Given the description of an element on the screen output the (x, y) to click on. 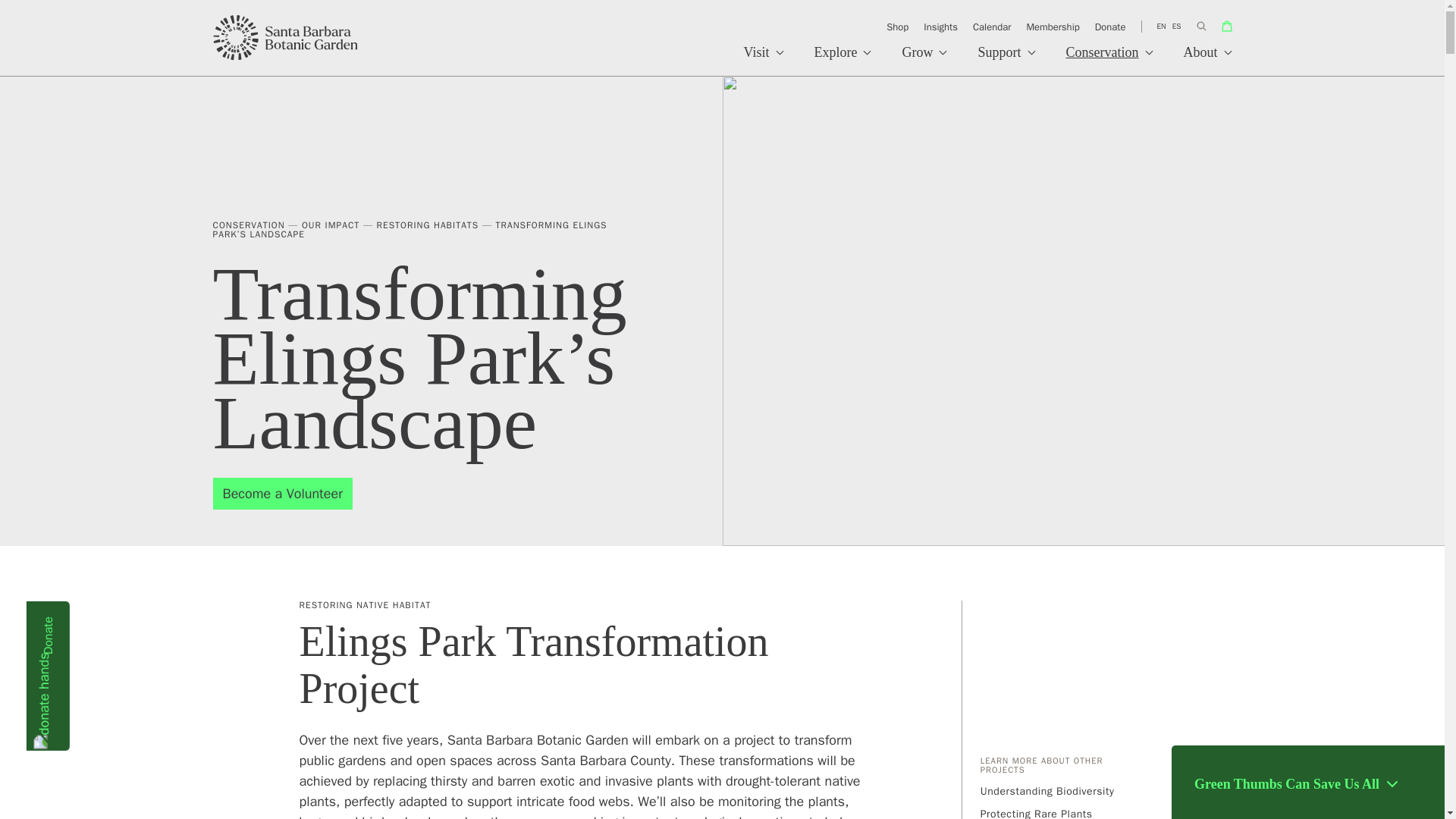
Donate (101, 622)
Calendar (991, 26)
Donate (1110, 26)
Membership (1052, 26)
shop (1226, 25)
Visit (764, 61)
Grow (924, 61)
donate (101, 622)
Support (1005, 61)
Insights (940, 26)
Santa Barbara Botanic Garden (285, 37)
Explore (842, 61)
Shop (897, 26)
Conservation (1110, 61)
